Given the description of an element on the screen output the (x, y) to click on. 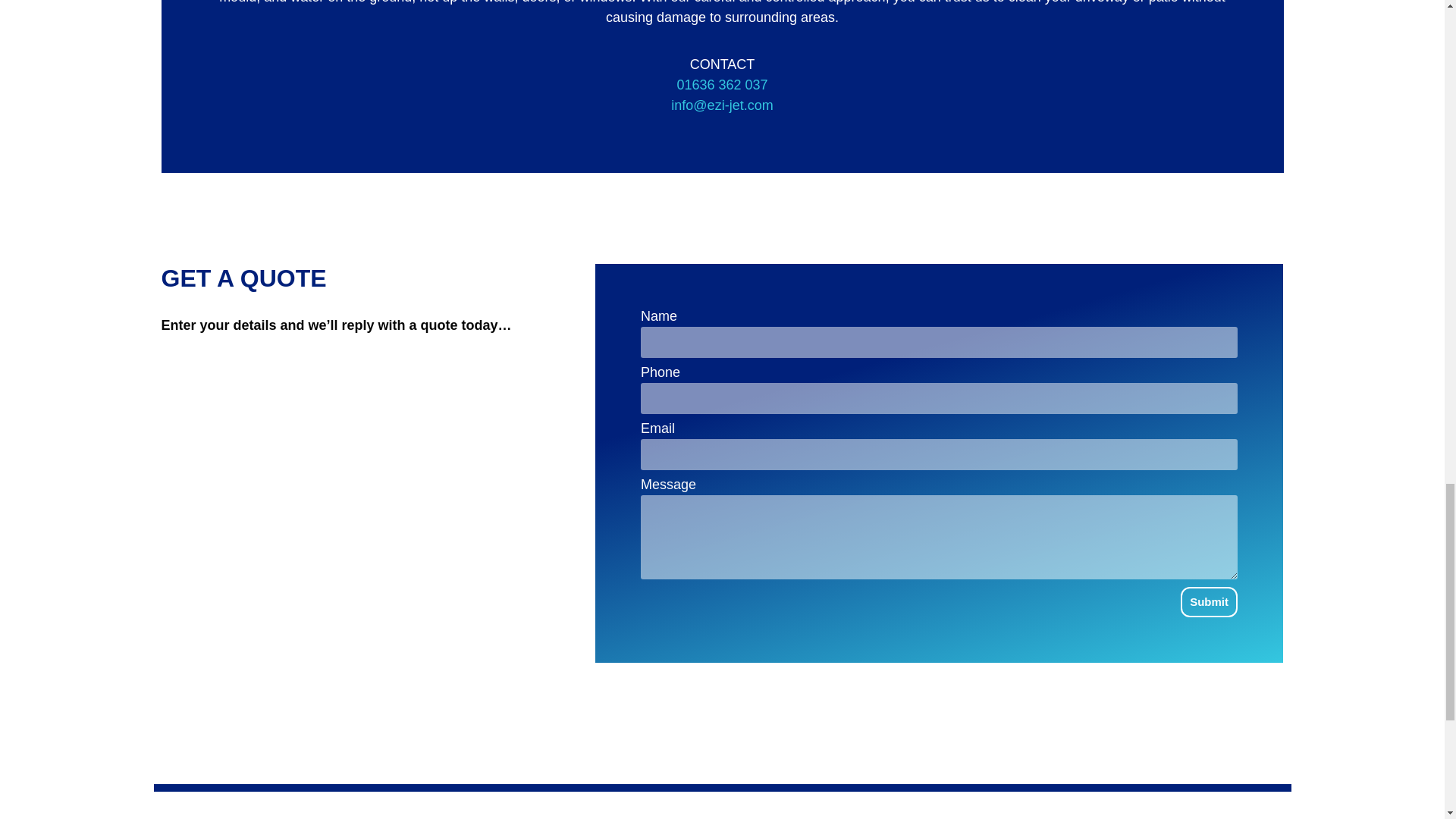
Submit (1208, 602)
01636 362 037 (722, 84)
